Given the description of an element on the screen output the (x, y) to click on. 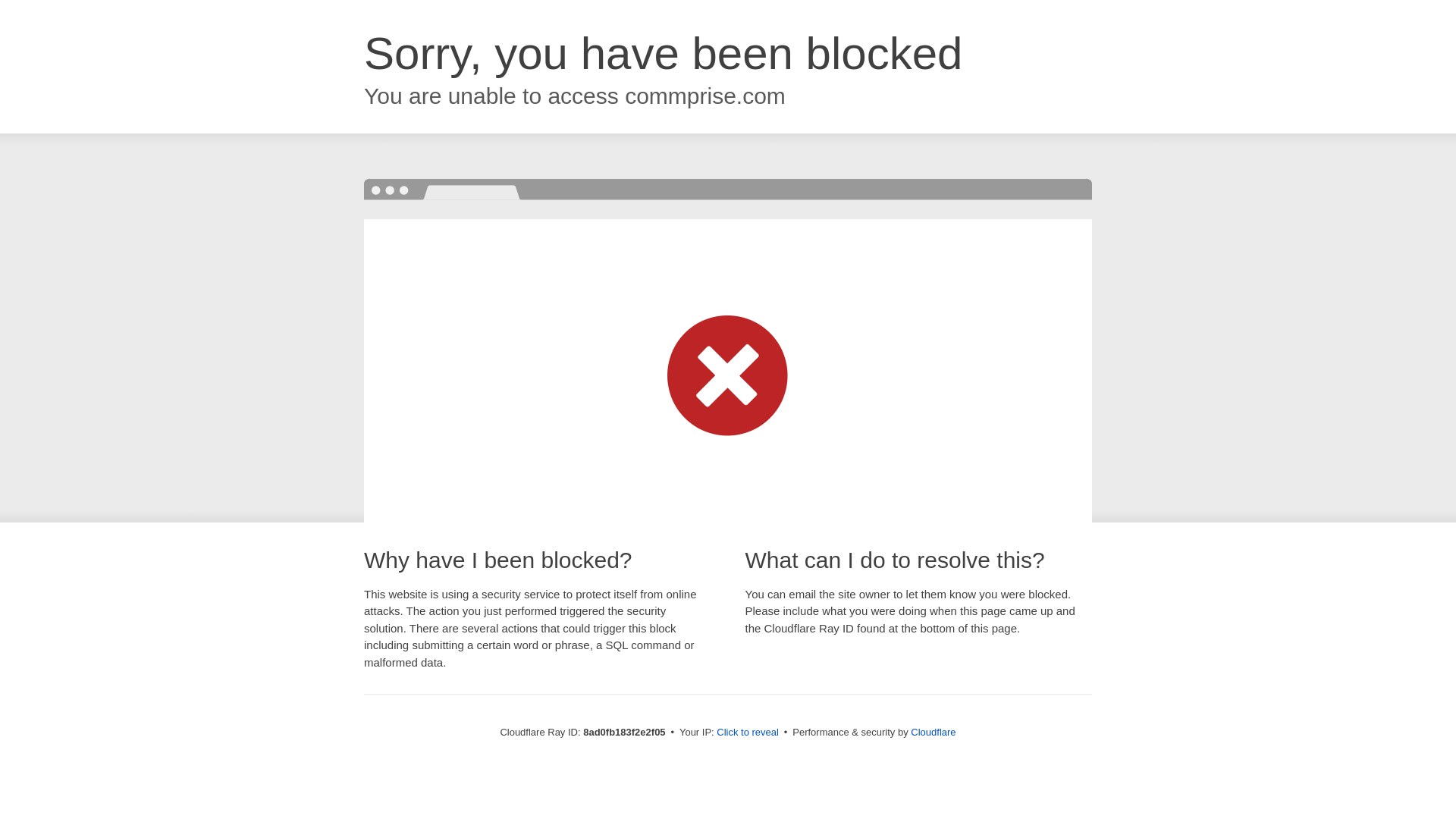
Cloudflare (933, 731)
Click to reveal (747, 732)
